Given the description of an element on the screen output the (x, y) to click on. 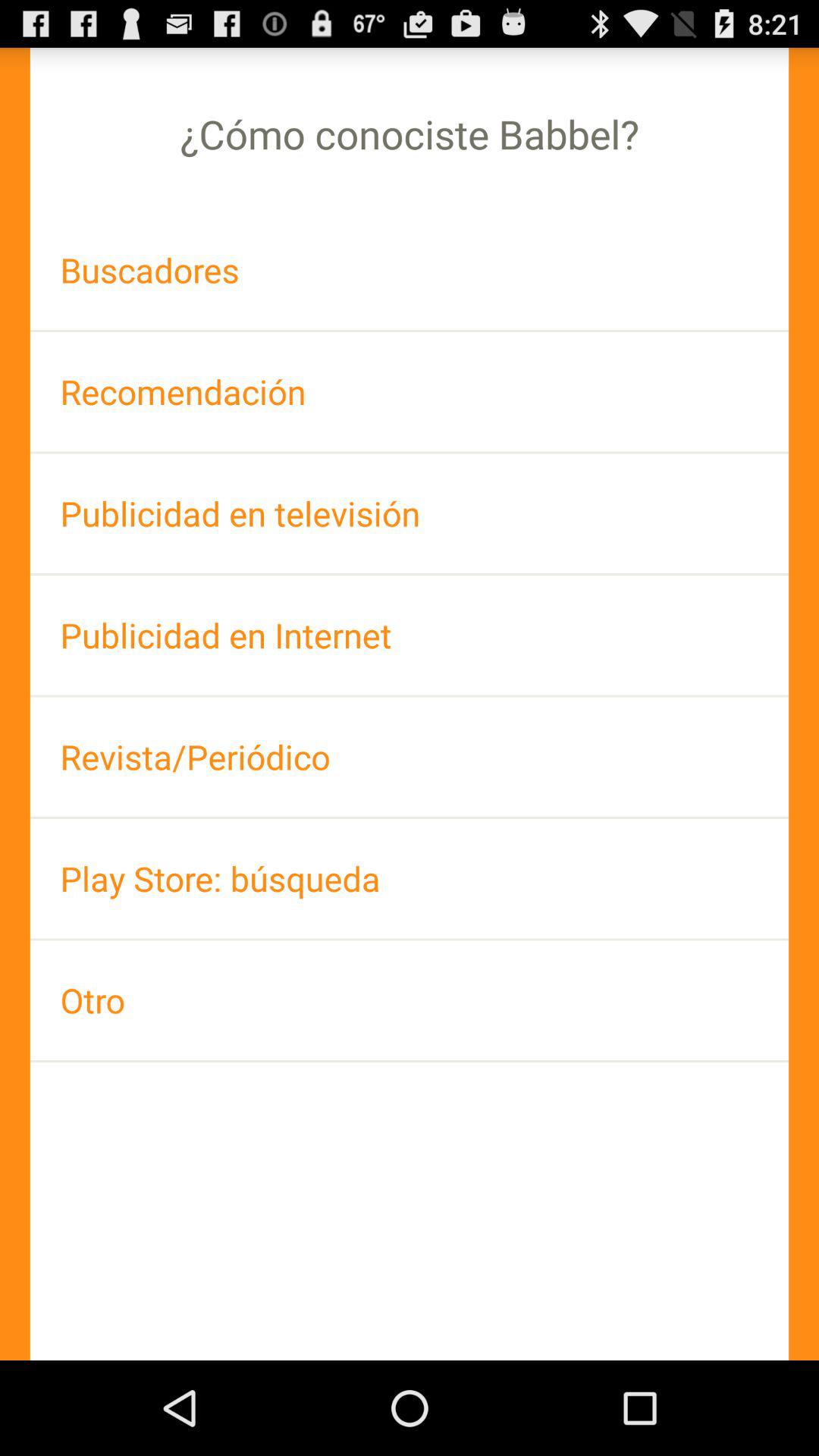
press the icon at the bottom (409, 1000)
